Given the description of an element on the screen output the (x, y) to click on. 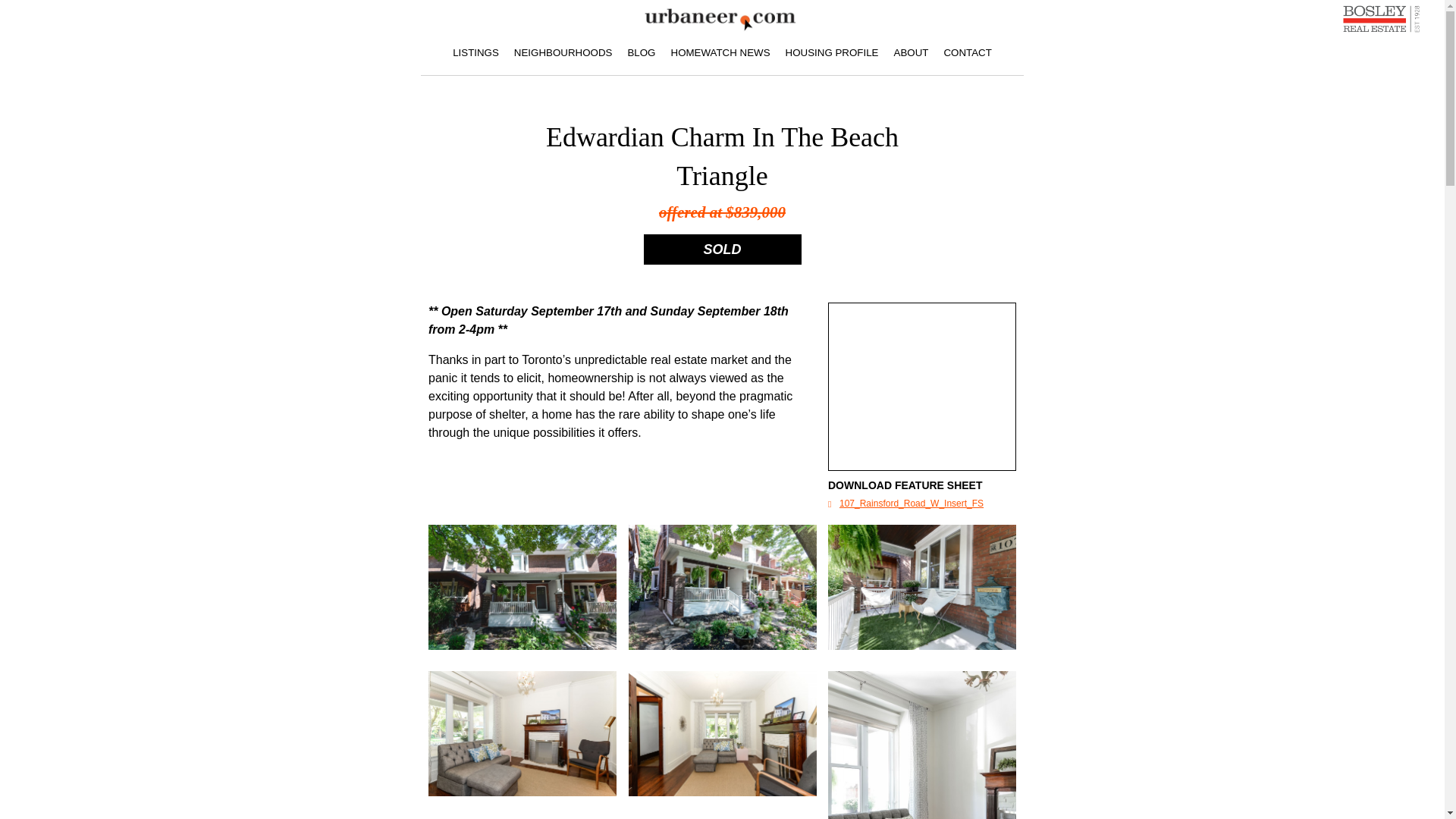
BLOG (641, 55)
LISTINGS (475, 55)
ABOUT (910, 55)
NEIGHBOURHOODS (563, 55)
HOUSING PROFILE (831, 55)
HOMEWATCH NEWS (719, 55)
CONTACT (967, 55)
